Given the description of an element on the screen output the (x, y) to click on. 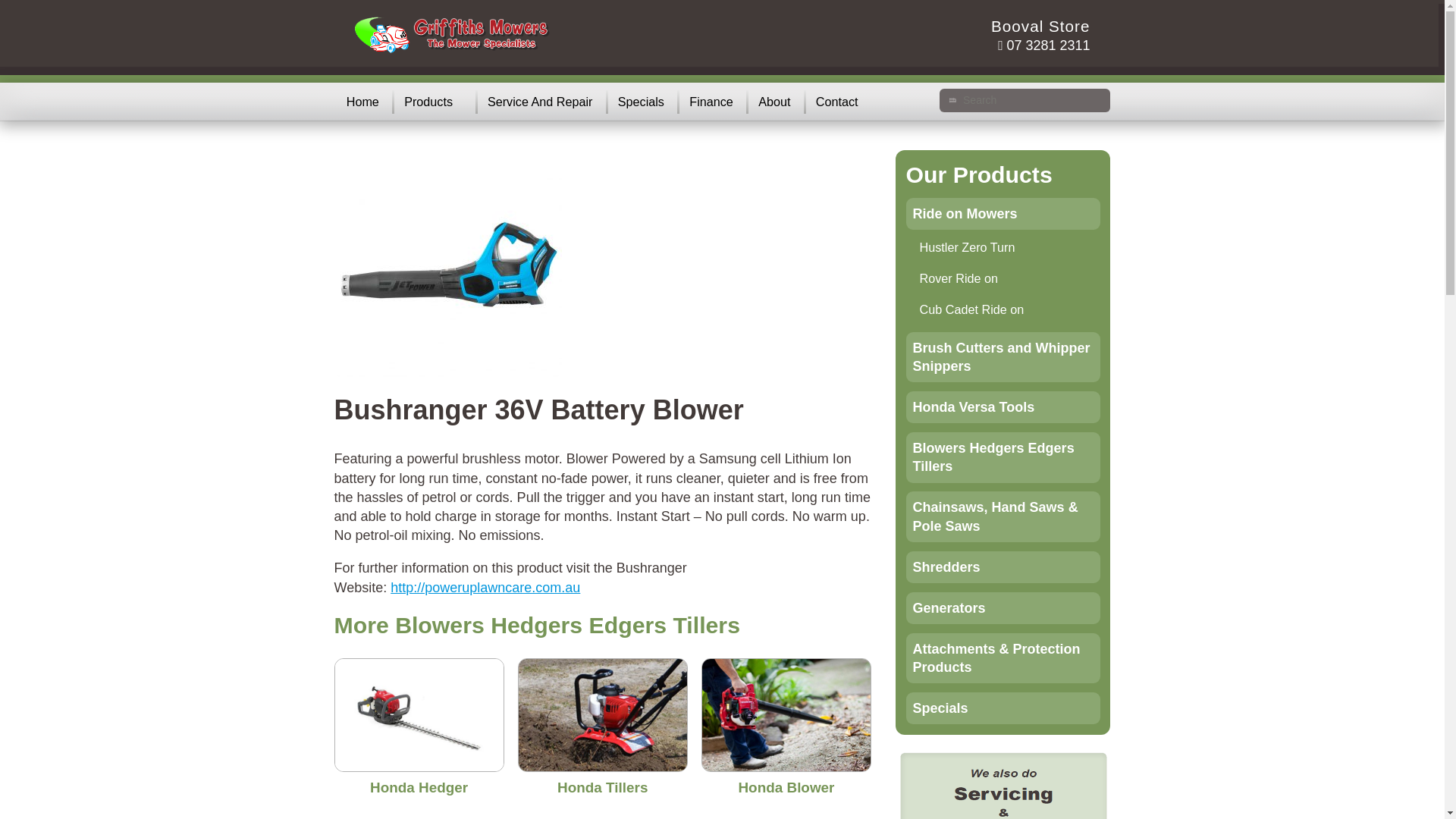
Specials (637, 101)
Honda Tillers (602, 787)
Contact (833, 101)
Honda Blower (786, 787)
Finance (708, 101)
07 3281 2311 (1043, 45)
Service And Repair (537, 101)
About (770, 101)
Honda Hedger (418, 787)
Home (358, 101)
Products (424, 101)
